Given the description of an element on the screen output the (x, y) to click on. 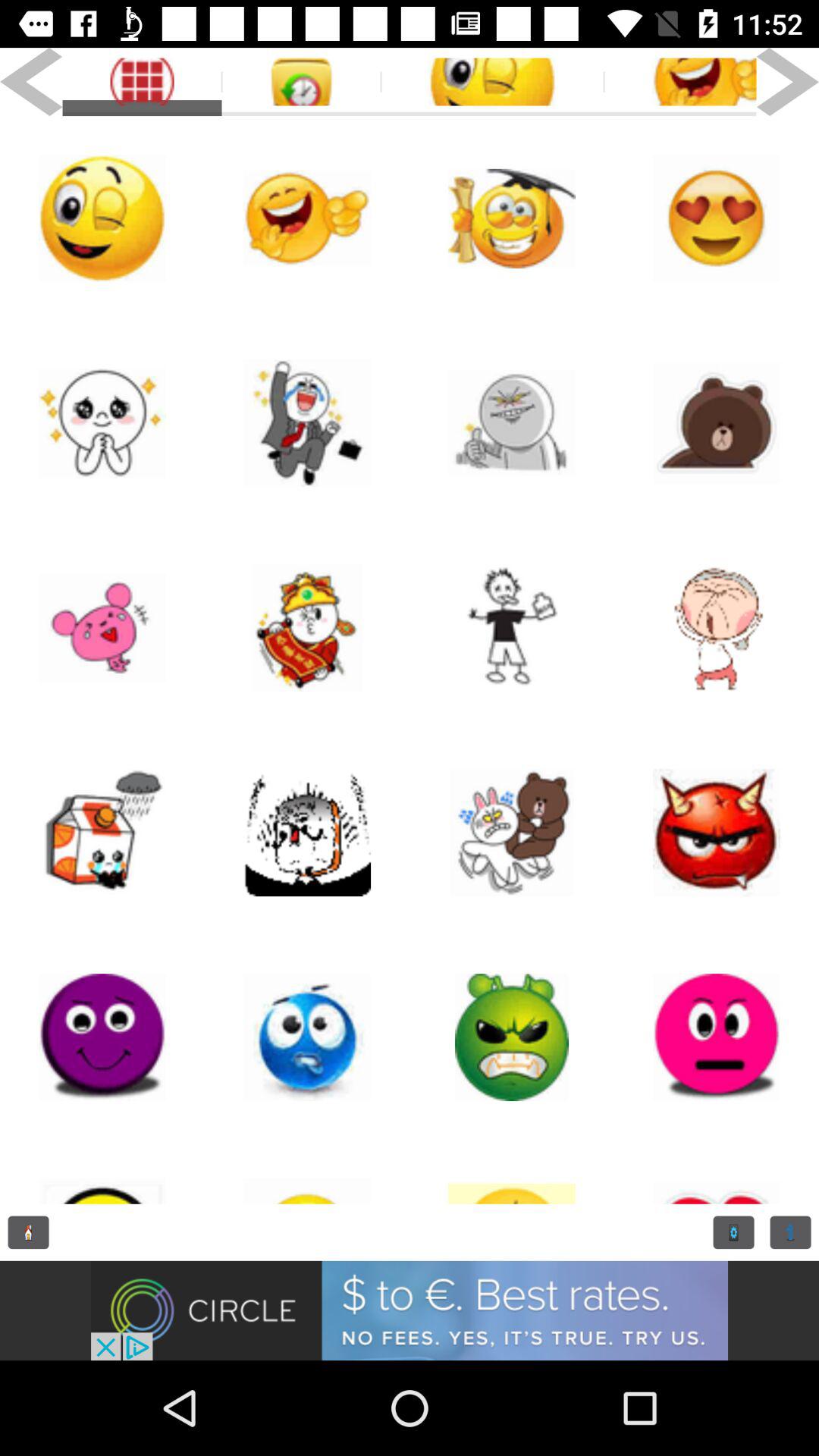
select emoji (511, 422)
